Given the description of an element on the screen output the (x, y) to click on. 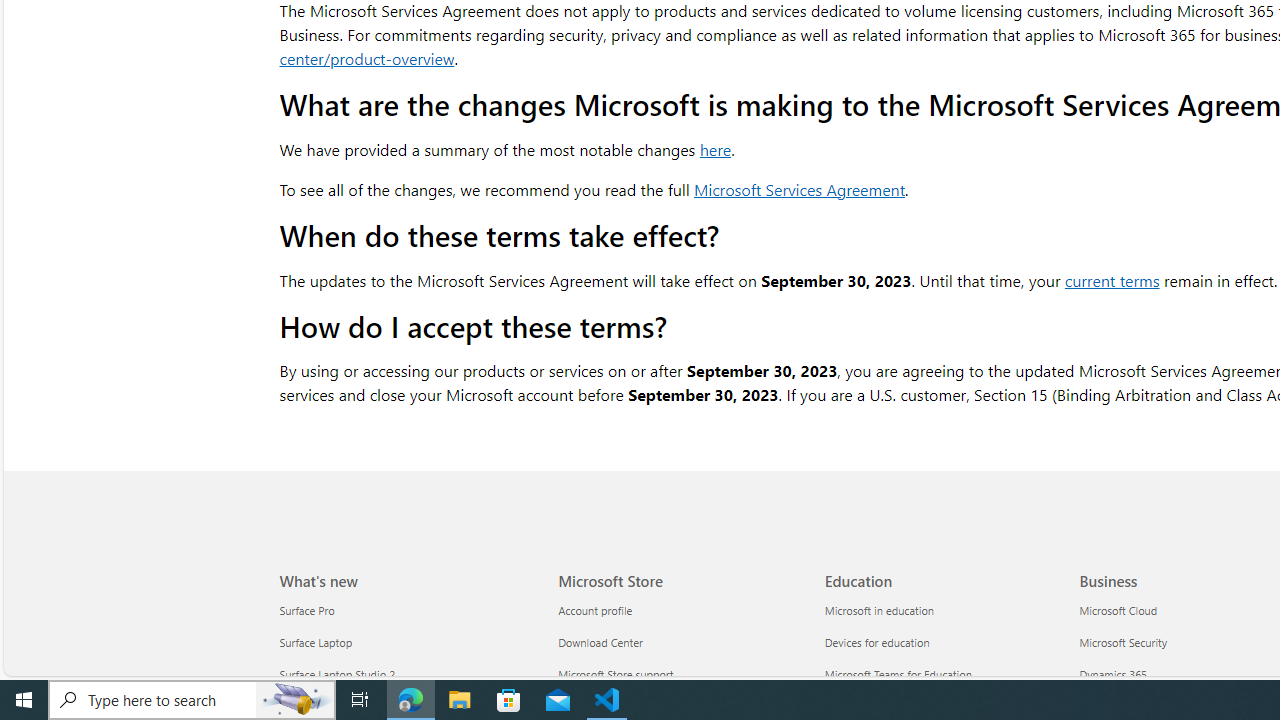
Microsoft in education (945, 610)
Devices for education Education (877, 642)
Dynamics 365 Business (1113, 674)
current terms (1111, 279)
here (715, 148)
Download Center (679, 643)
Microsoft Teams for Education Education (897, 674)
Microsoft Security Business (1123, 642)
Microsoft Teams for Education (945, 674)
Surface Laptop (407, 643)
Account profile Microsoft Store (595, 611)
Microsoft Cloud Business (1118, 611)
Surface Laptop Studio 2 (407, 674)
Surface Pro (407, 610)
